Given the description of an element on the screen output the (x, y) to click on. 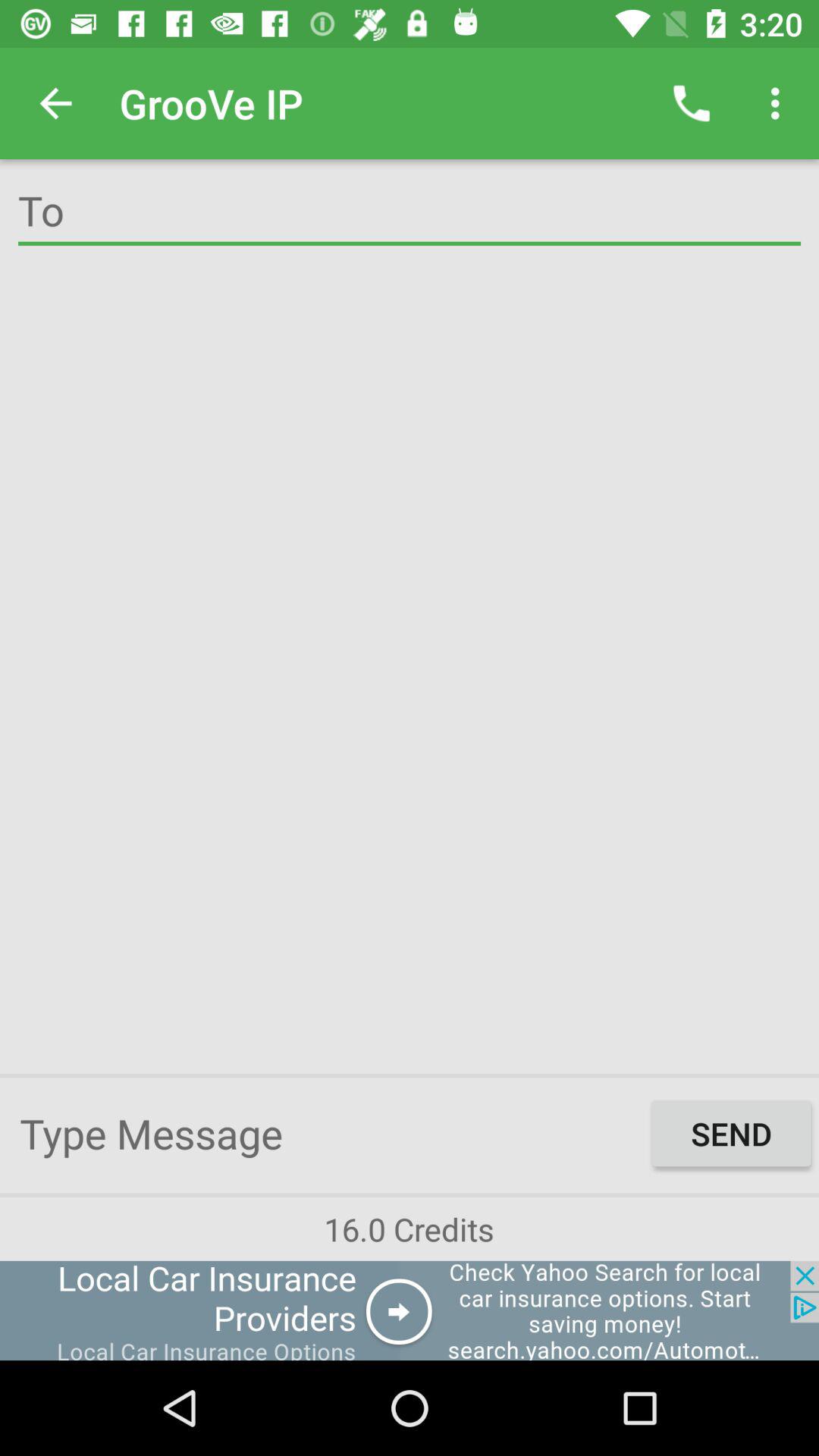
enter message (331, 1133)
